Given the description of an element on the screen output the (x, y) to click on. 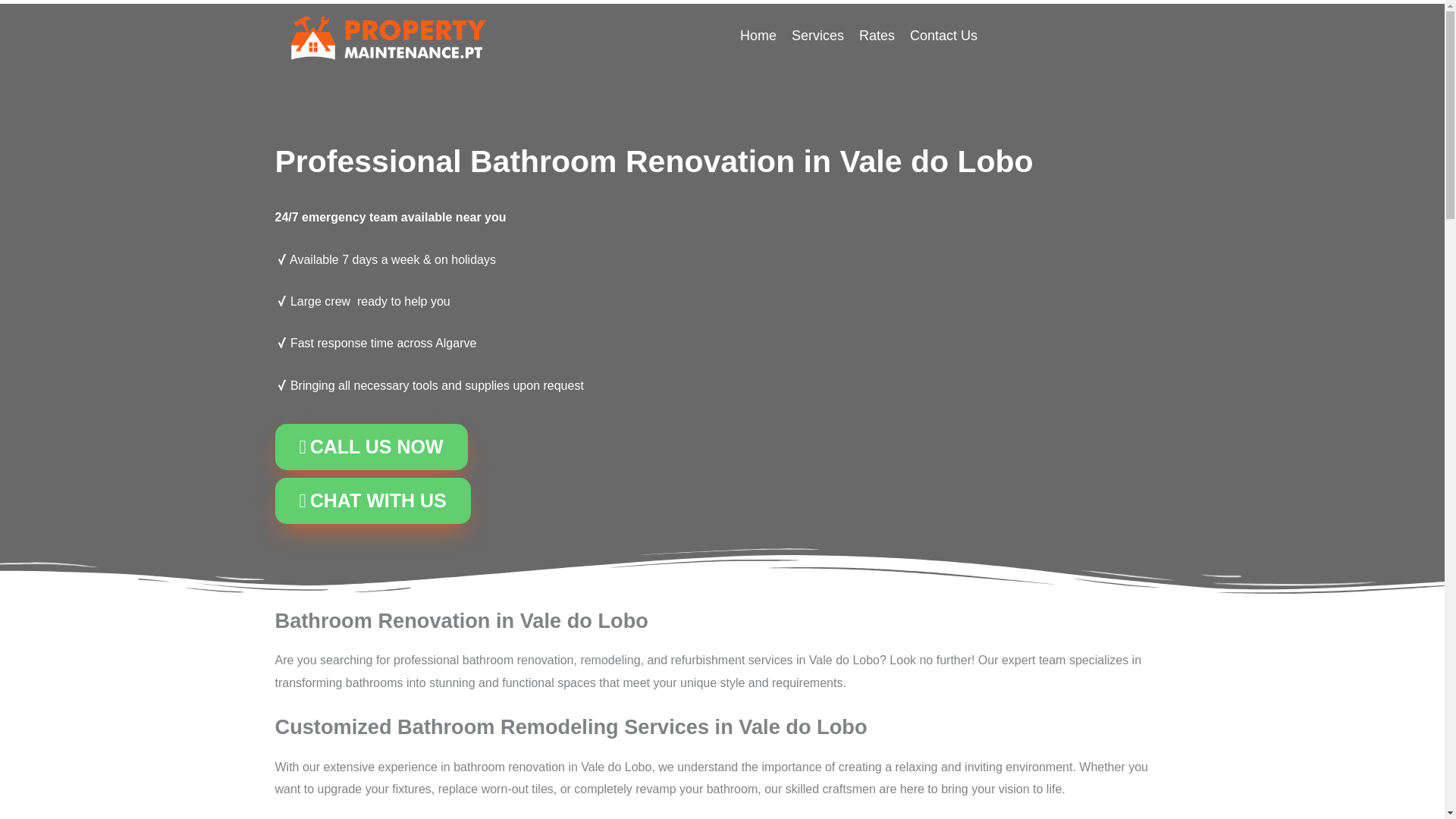
CHAT WITH US (372, 500)
Rates (877, 35)
Services (818, 35)
CALL US NOW (371, 447)
Contact Us (943, 35)
Home (757, 35)
